Given the description of an element on the screen output the (x, y) to click on. 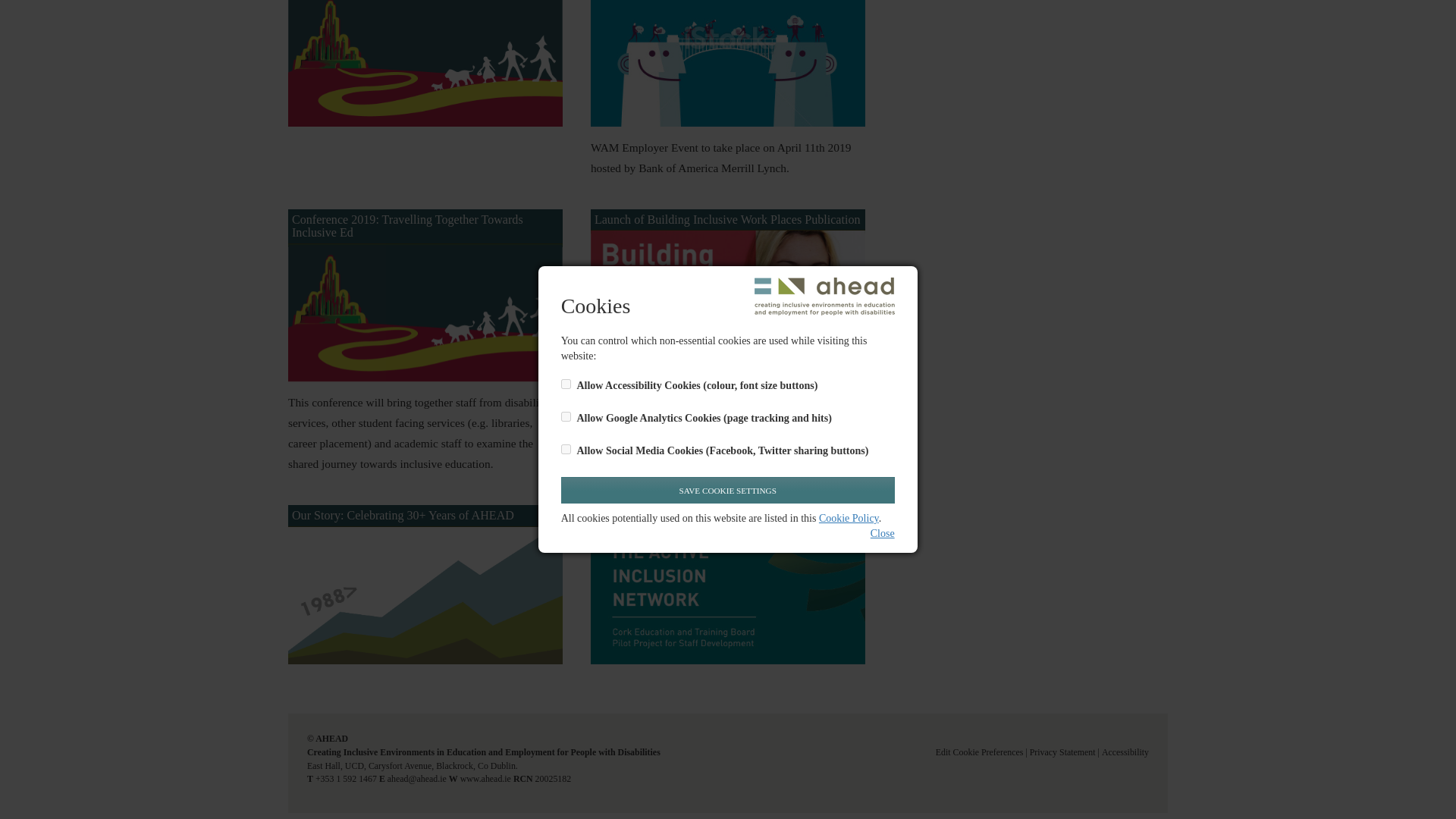
WAM Event: Making the Mainstream Inclusive (727, 63)
Conference 2019: Key Vids Now Available (425, 63)
